Given the description of an element on the screen output the (x, y) to click on. 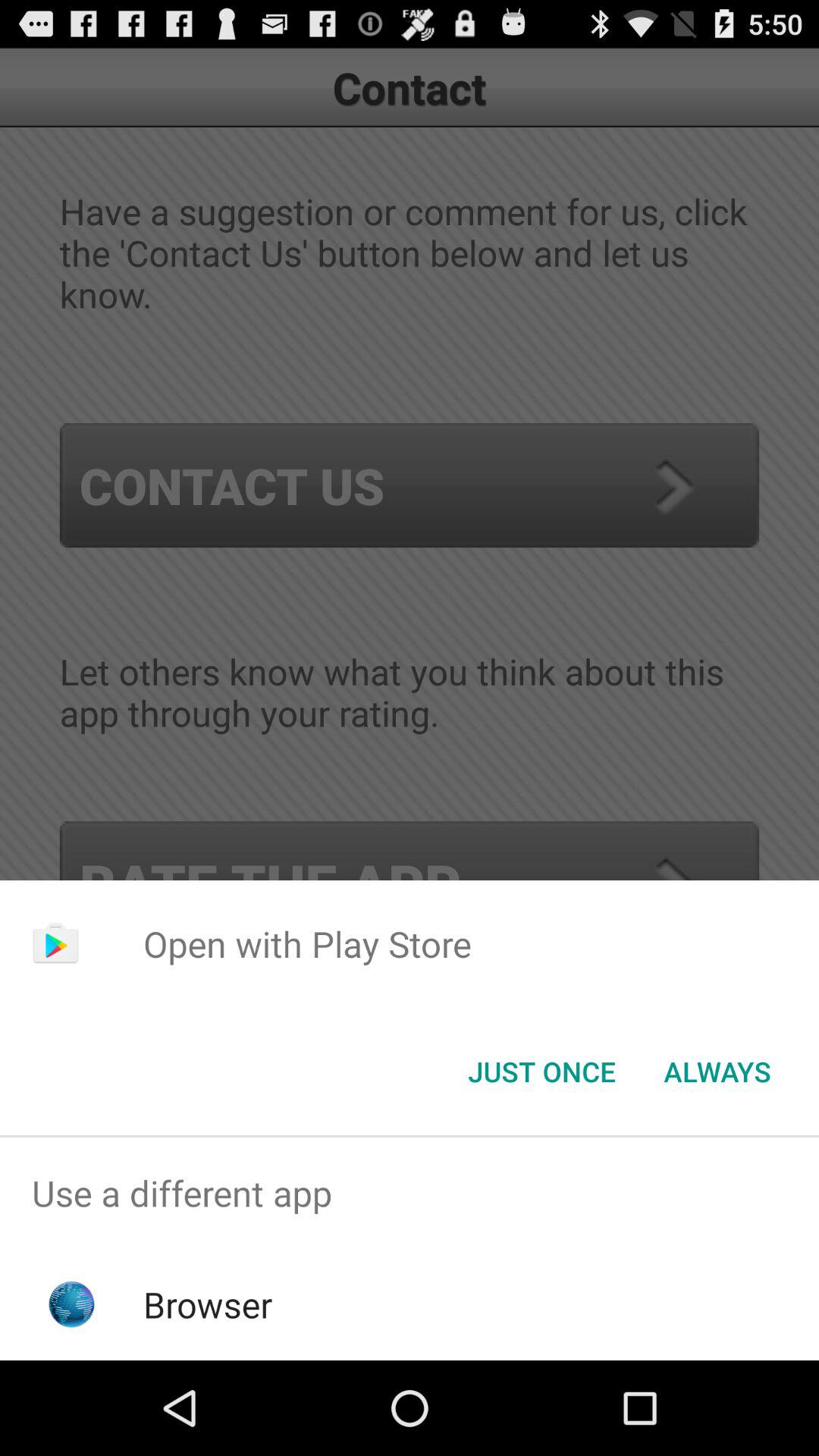
select always (717, 1071)
